Given the description of an element on the screen output the (x, y) to click on. 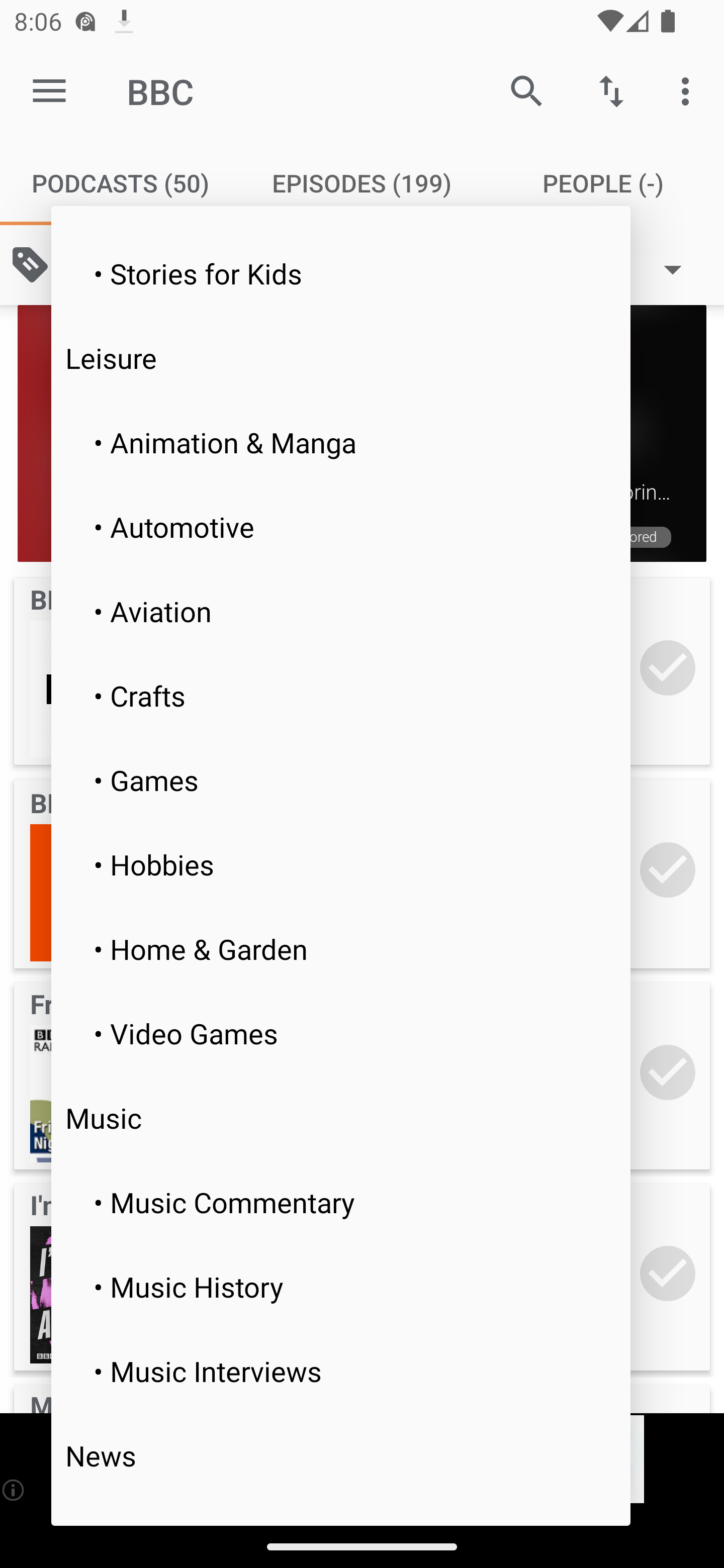
    • Stories for Kids (340, 272)
Leisure (340, 357)
    • Animation & Manga (340, 441)
    • Automotive (340, 526)
    • Aviation (340, 611)
    • Crafts (340, 695)
    • Games (340, 779)
    • Hobbies (340, 863)
    • Home & Garden (340, 948)
    • Video Games (340, 1032)
Music (340, 1117)
    • Music Commentary (340, 1202)
    • Music History (340, 1286)
    • Music Interviews (340, 1370)
News (340, 1454)
